Given the description of an element on the screen output the (x, y) to click on. 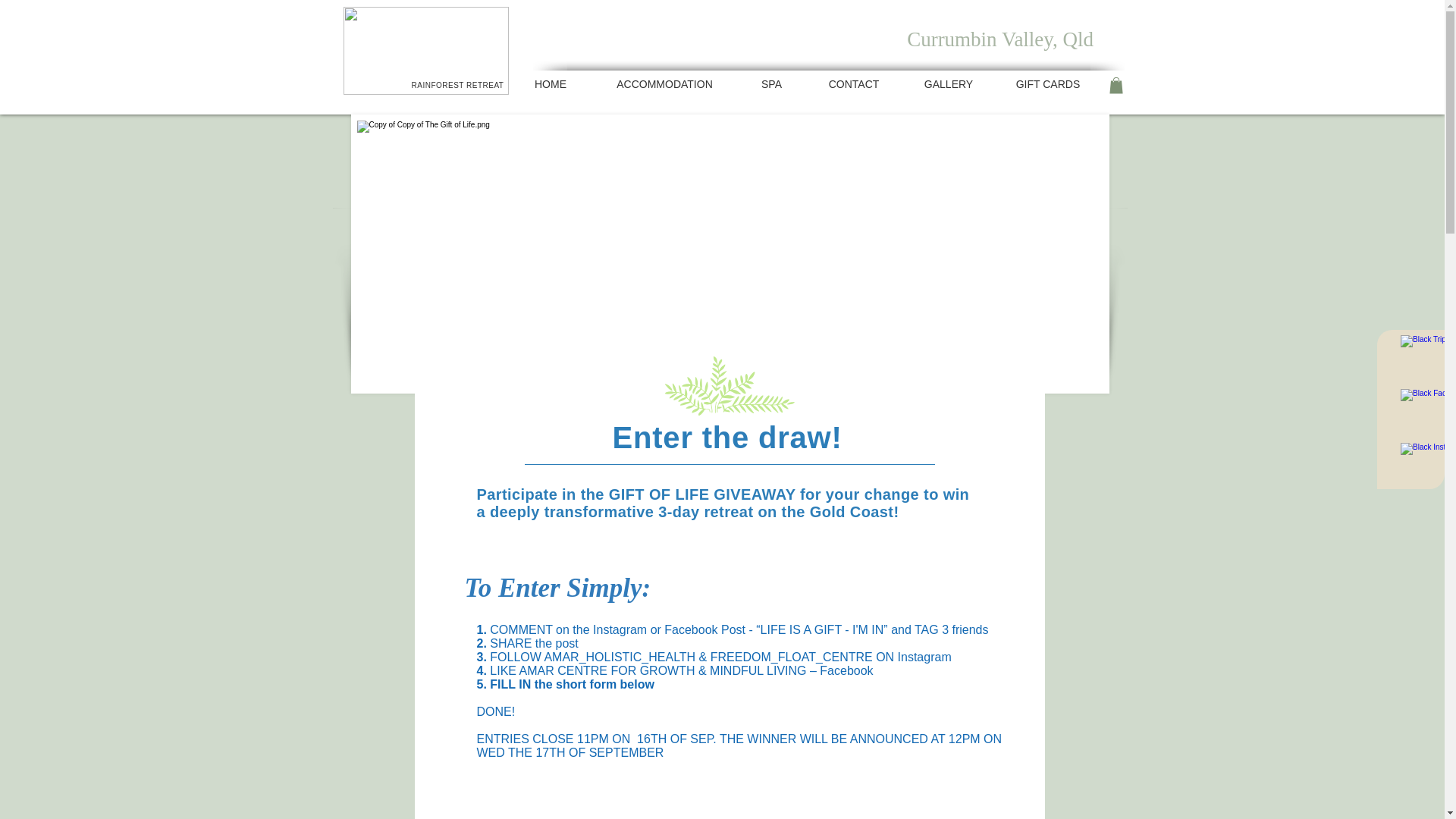
CONTACT (853, 83)
HOME (550, 83)
ACCOMMODATION (664, 83)
GALLERY (948, 83)
SPA (771, 83)
GIFT CARDS (1048, 83)
